Given the description of an element on the screen output the (x, y) to click on. 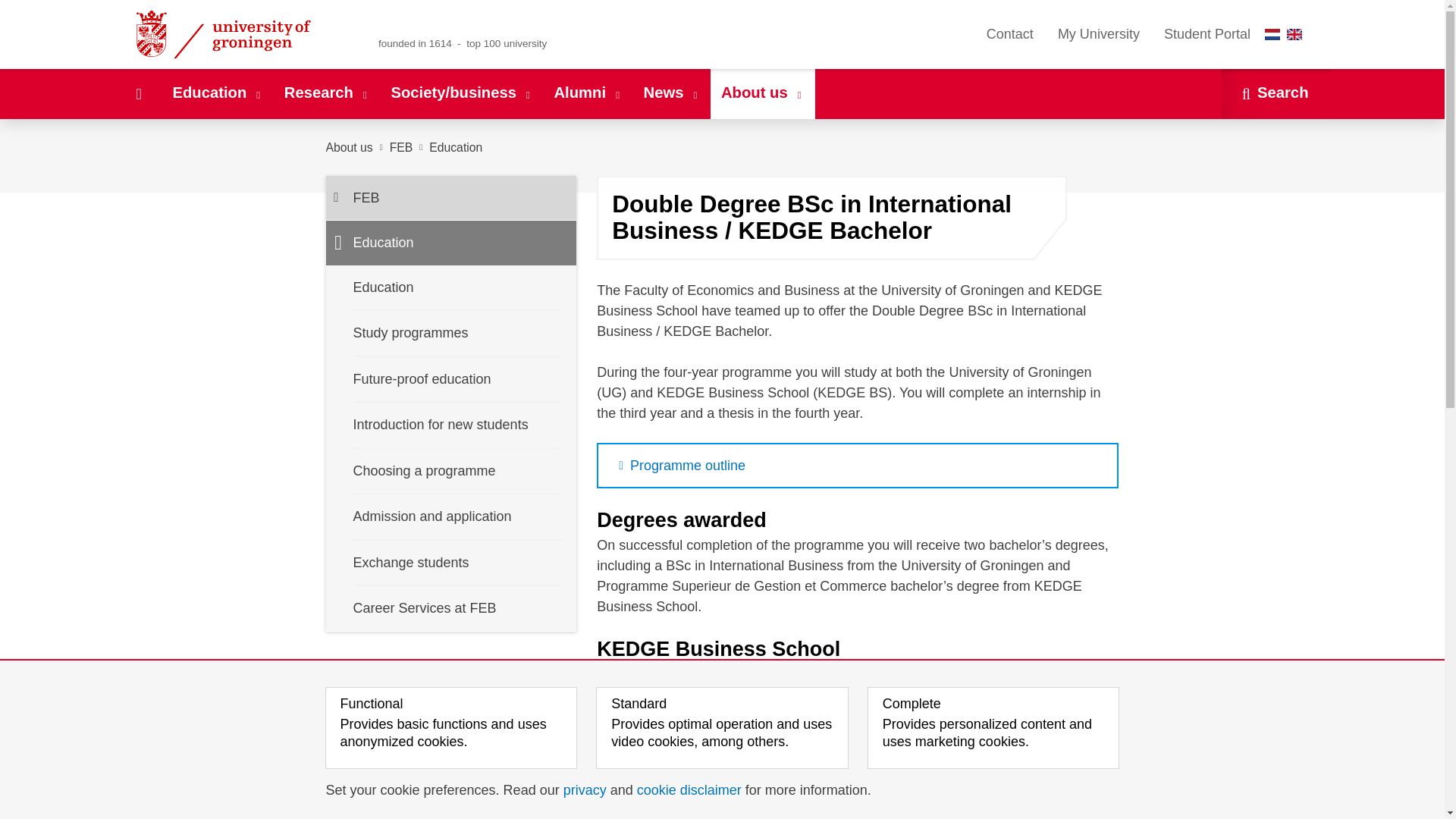
Student Portal (1206, 34)
Nederlands (1272, 33)
University of Groningen (241, 34)
Contact (1009, 34)
Research (326, 93)
Home (138, 93)
Language select (1286, 34)
English (1293, 33)
My University (1098, 34)
